Given the description of an element on the screen output the (x, y) to click on. 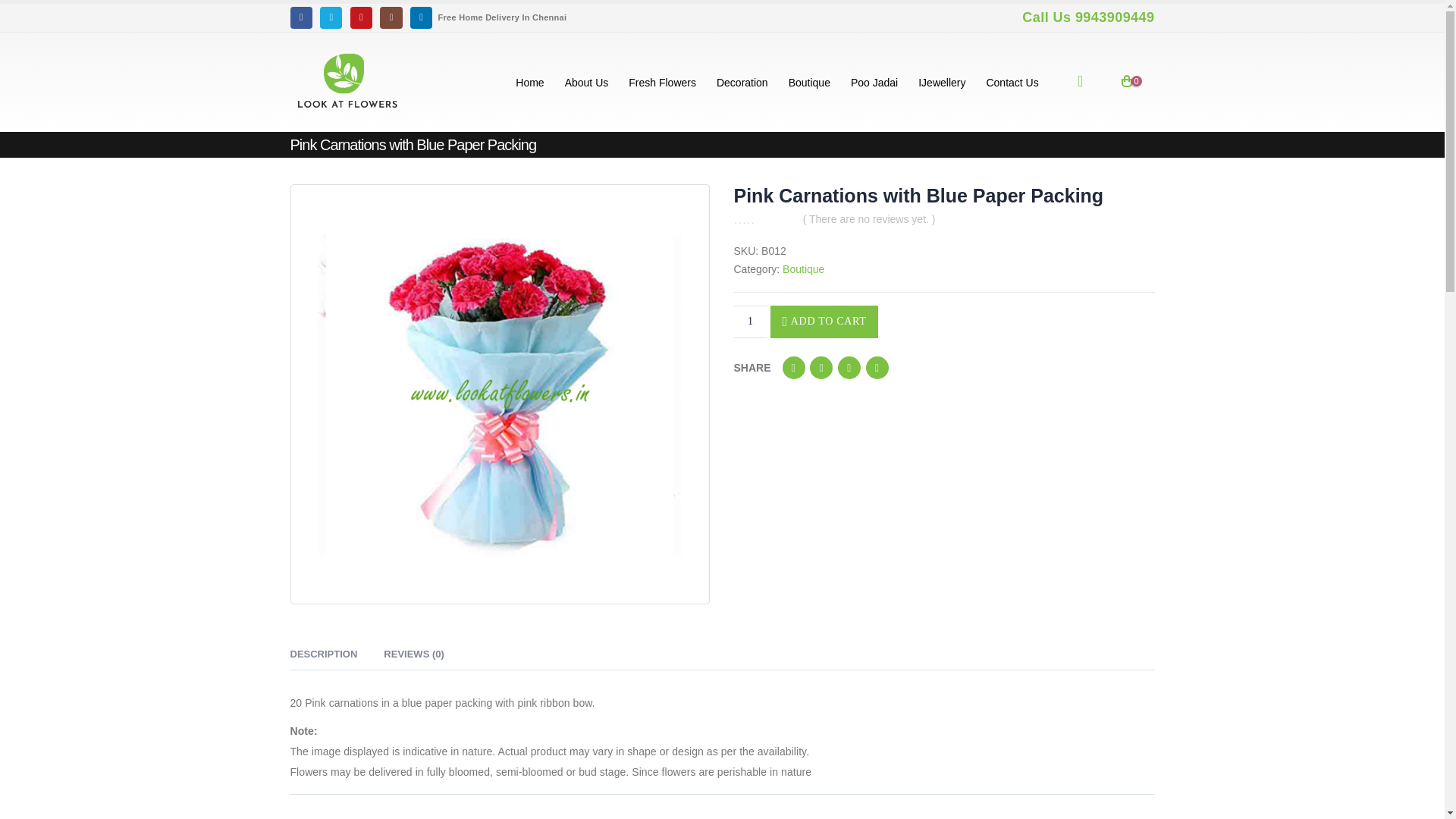
Call Us 9943909449 (1085, 17)
Fresh Flowers (662, 81)
About Us (586, 81)
Pinterest (877, 367)
Decoration (741, 81)
Twitter (820, 367)
Facebook (300, 17)
Contact Us (1011, 81)
0 (763, 218)
Qty (750, 321)
